Given the description of an element on the screen output the (x, y) to click on. 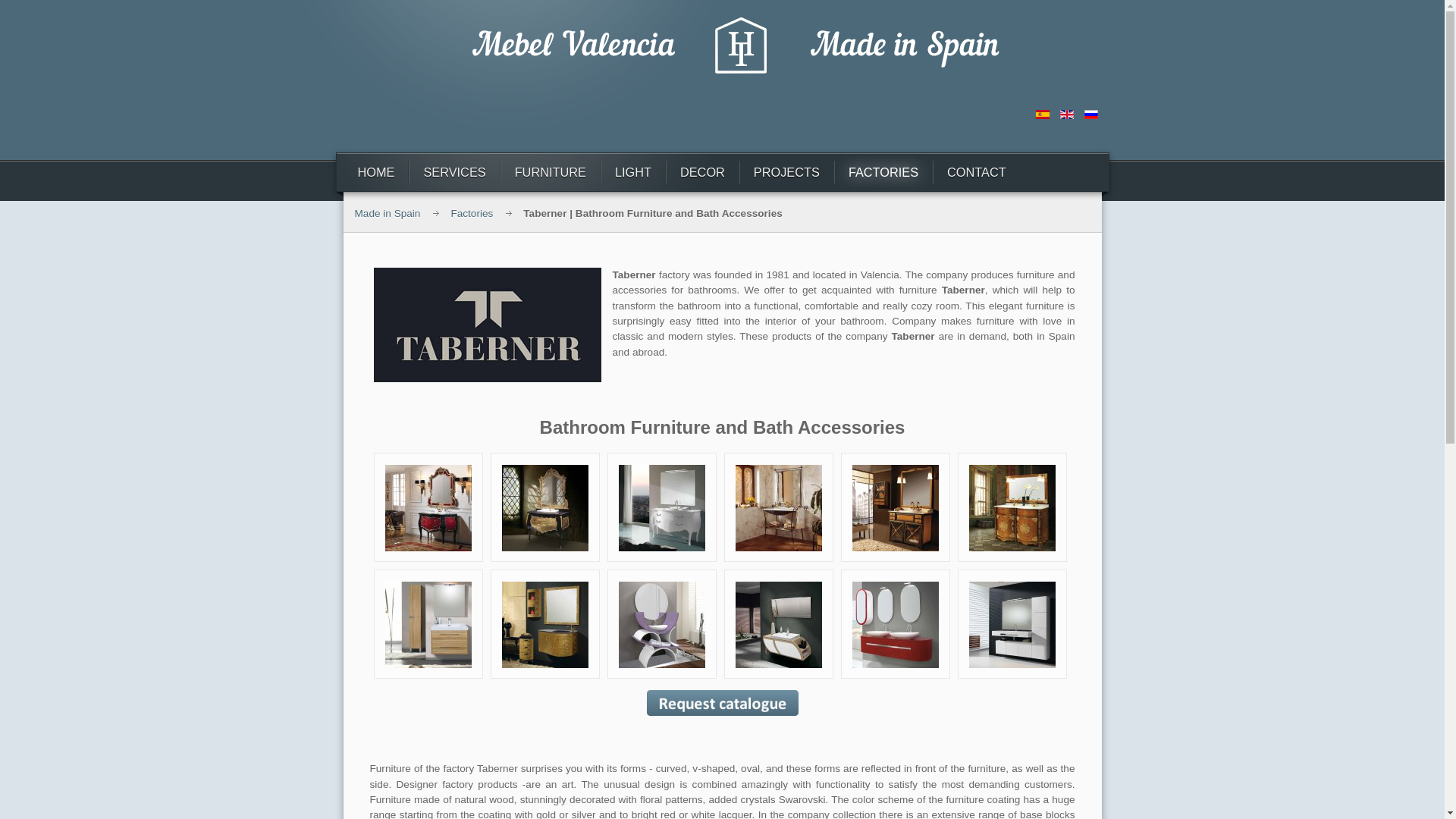
Taberner, luxury bathroom furniture, classic and modern (1012, 507)
Taberner, luxury bathroom furniture, classic and modern (895, 624)
Taberner, luxury bathroom furniture, classic and modern (778, 507)
Taberner, luxury bathroom furniture, classic and modern (1012, 624)
Taberner, luxury bathroom furniture, classic and modern (661, 507)
PROJECTS (786, 171)
Taberner, luxury bathroom furniture, classic and modern (778, 624)
FURNITURE (549, 171)
SERVICES (454, 171)
LIGHT (633, 171)
Taberner, luxury bathroom furniture, classic and modern (545, 507)
Taberner, luxury bathroom furniture, classic and modern (661, 624)
Taberner, luxury bathroom furniture, classic and modern (428, 507)
Taberner, luxury bathroom furniture, classic and modern (545, 624)
Request catalogue (721, 701)
